Given the description of an element on the screen output the (x, y) to click on. 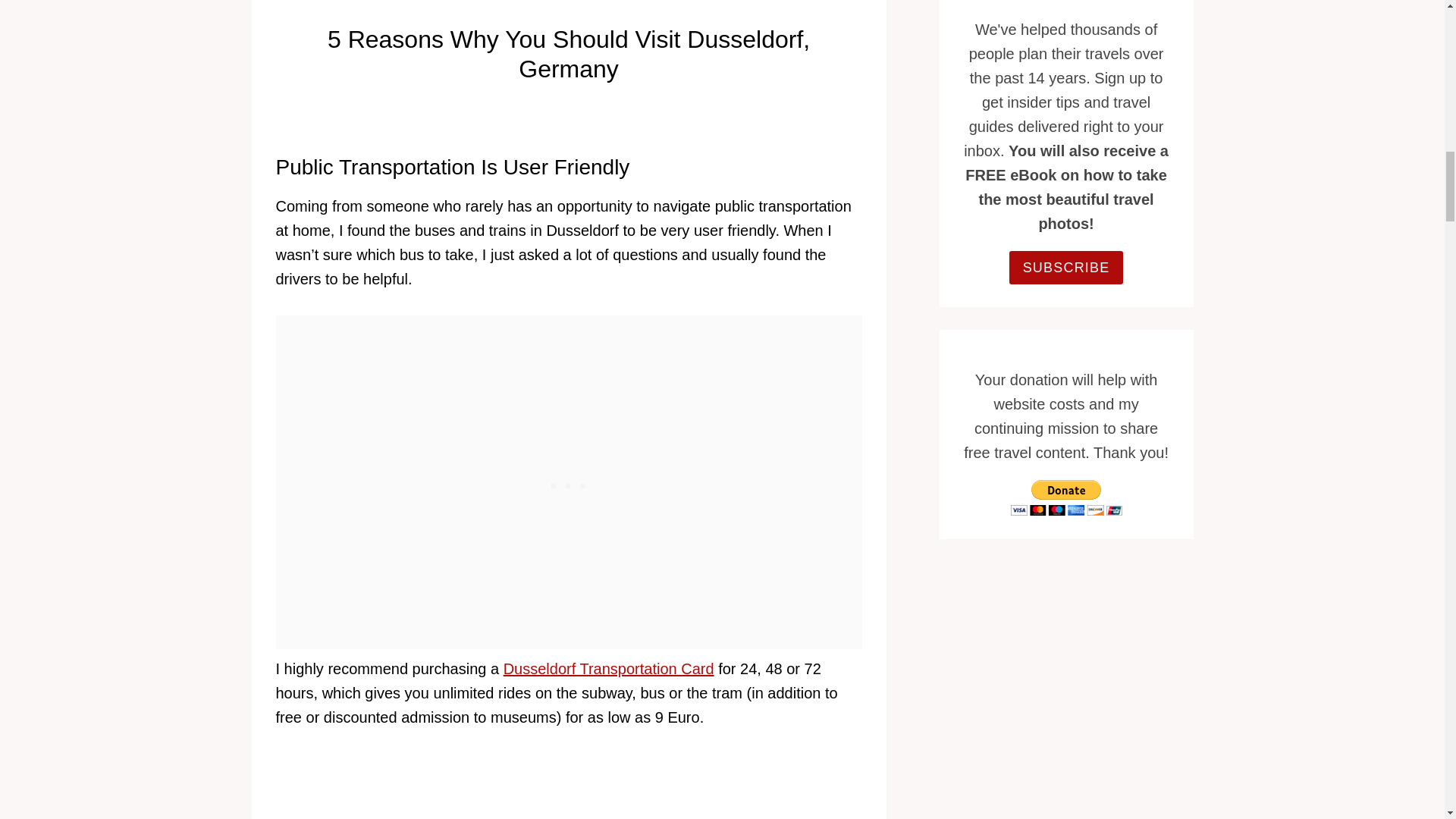
Dusseldorf Transportation Card (608, 668)
PayPal - The safer, easier way to pay online! (1066, 497)
5 Reasons Why You Should Visit Dusseldorf, Germany (568, 786)
